Given the description of an element on the screen output the (x, y) to click on. 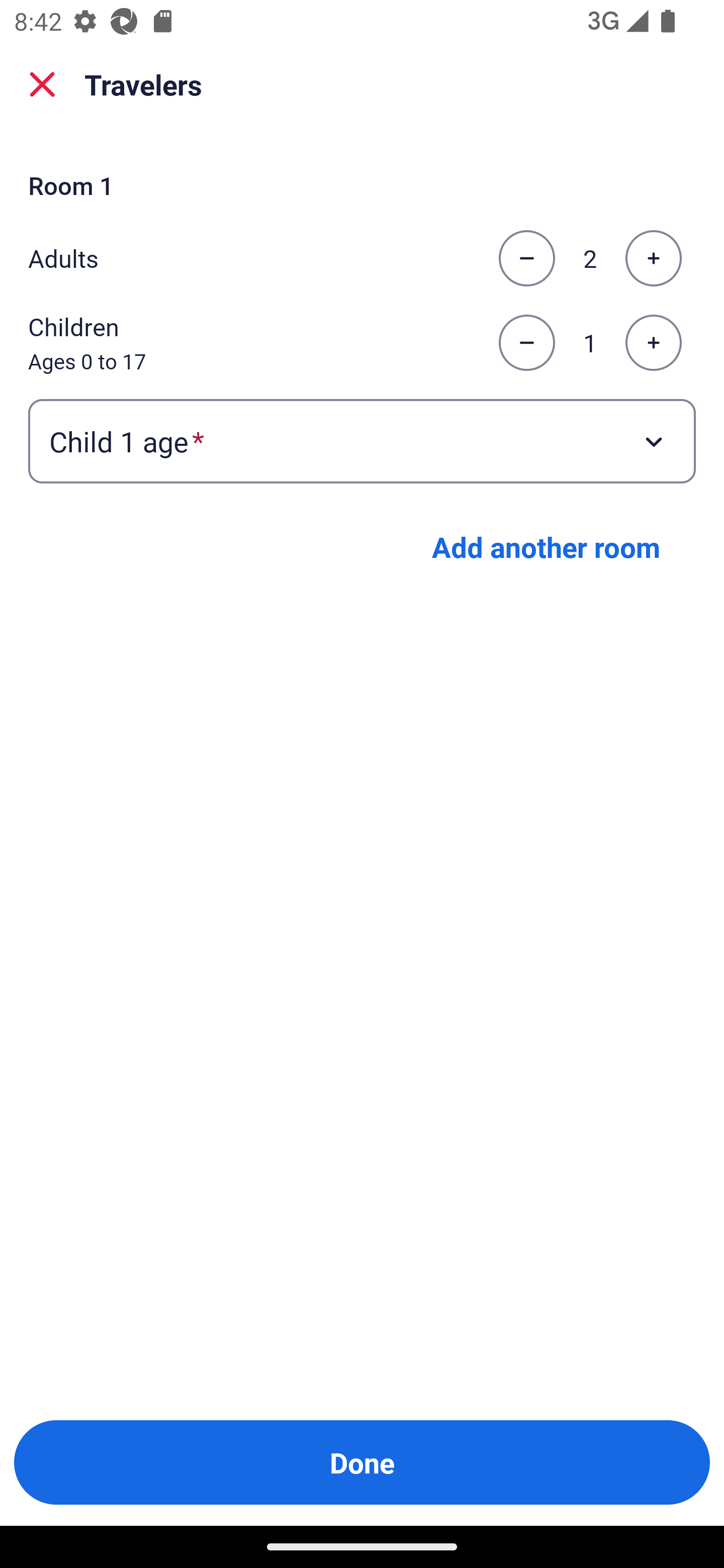
close (42, 84)
Decrease the number of adults (526, 258)
Increase the number of adults (653, 258)
Decrease the number of children (526, 343)
Increase the number of children (653, 343)
Child 1 age required Button (361, 440)
Add another room (545, 546)
Done (361, 1462)
